Given the description of an element on the screen output the (x, y) to click on. 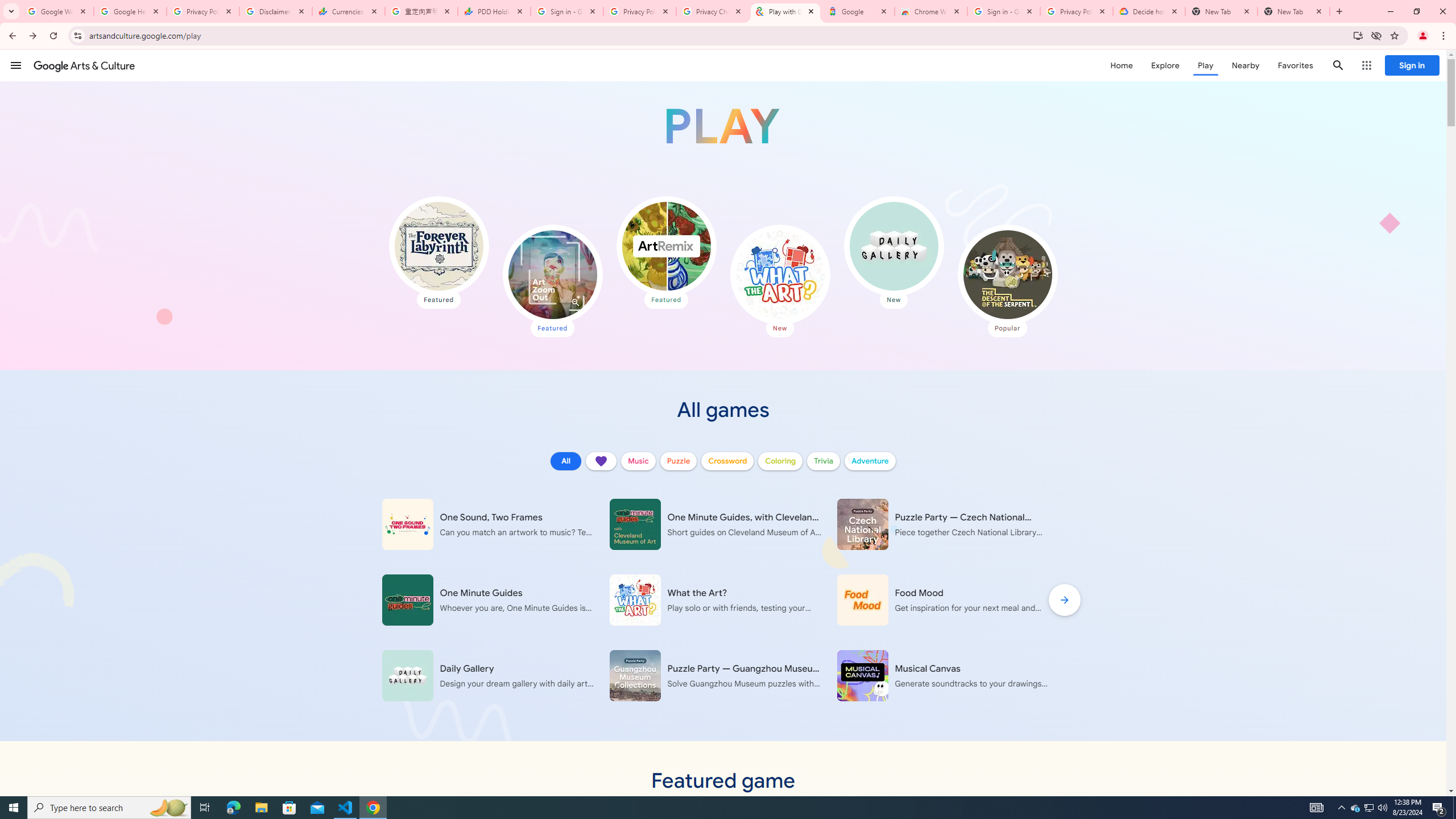
Favorites (1295, 65)
Install Google Arts & Culture (1358, 35)
Nearby (1244, 65)
The Descent of the Serpent (1007, 274)
Home (1120, 65)
Art Remix (665, 246)
